Given the description of an element on the screen output the (x, y) to click on. 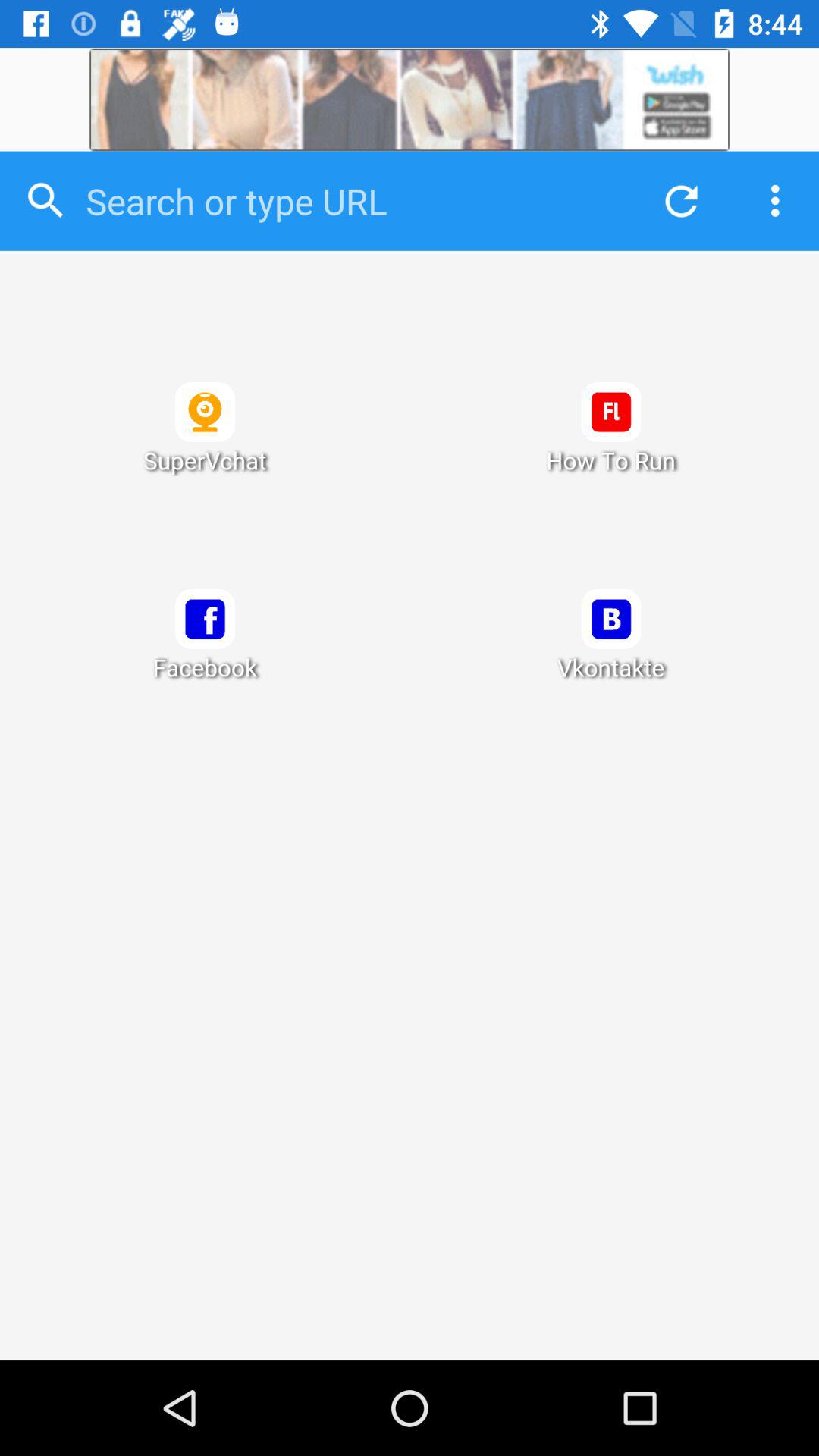
various apps (409, 805)
